Given the description of an element on the screen output the (x, y) to click on. 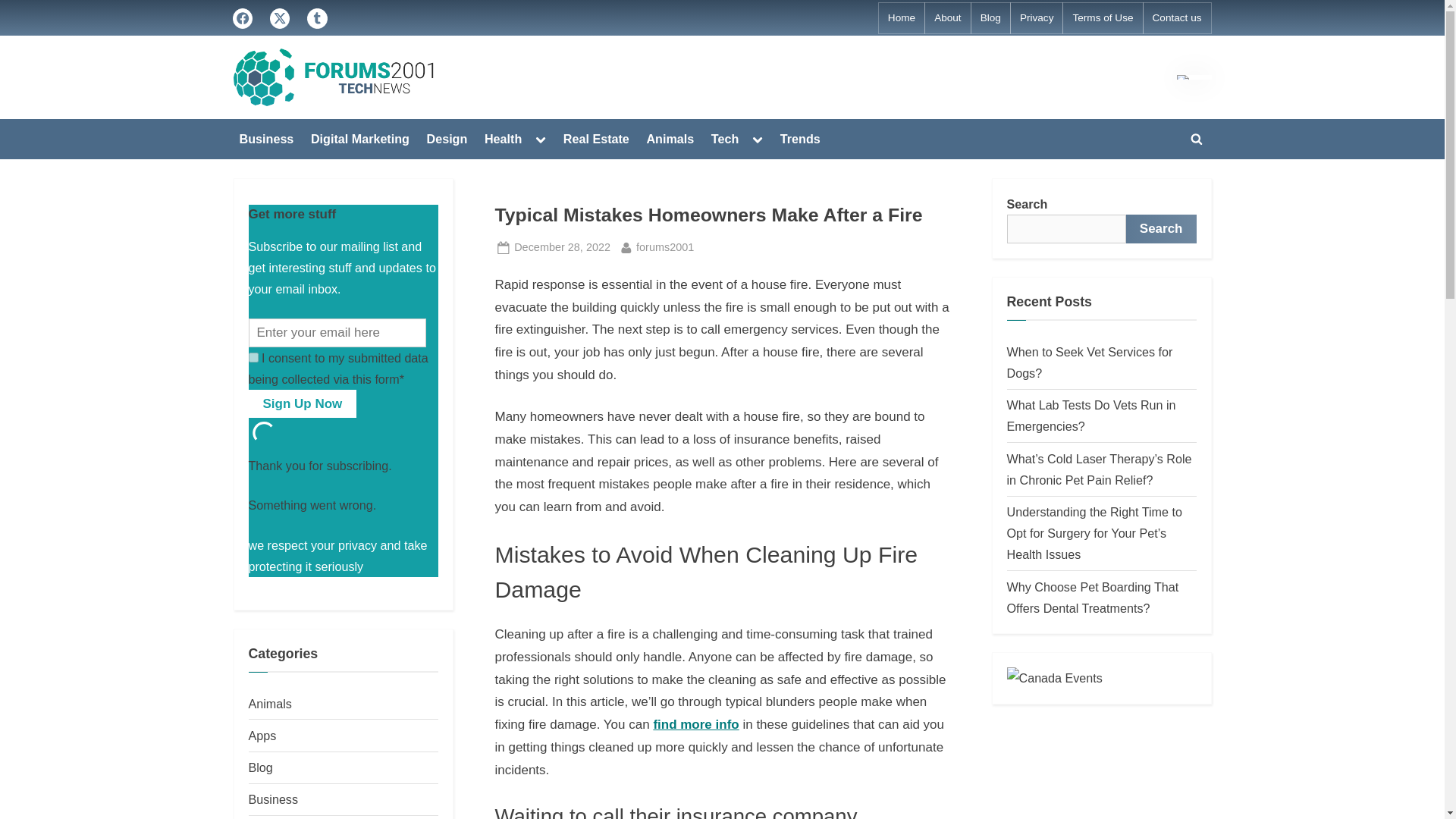
Health (503, 138)
Tumblr (316, 17)
Facebook (241, 17)
Home (901, 18)
find more info (695, 724)
Digital Marketing (359, 138)
on (253, 357)
Design (446, 138)
Real Estate (595, 138)
Contact us (1177, 18)
Forums 2001 (489, 88)
About (947, 18)
Toggle sub-menu (540, 138)
Tech (724, 138)
Terms of Use (1101, 18)
